Given the description of an element on the screen output the (x, y) to click on. 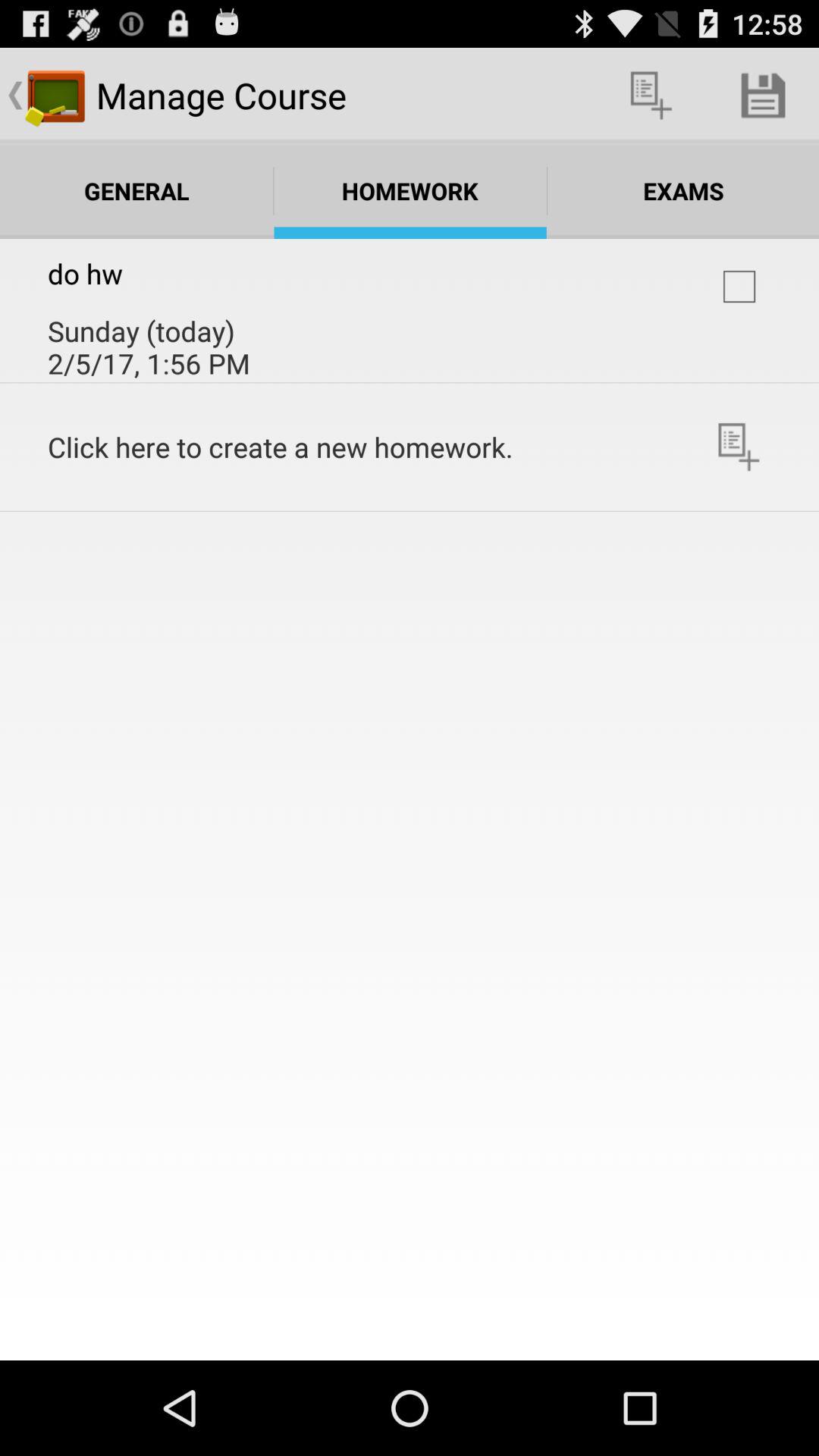
launch the icon to the right of the manage course icon (651, 95)
